Given the description of an element on the screen output the (x, y) to click on. 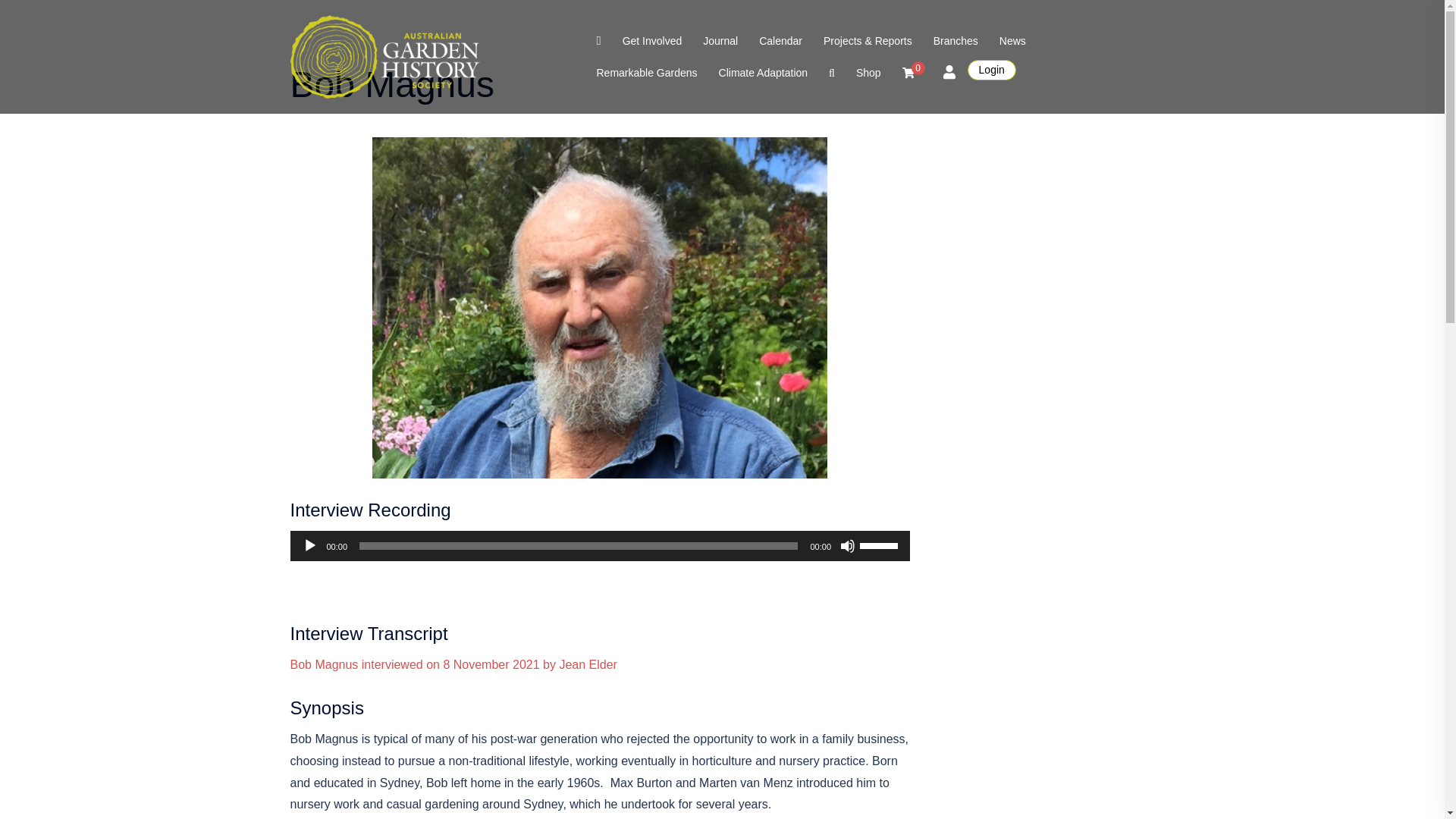
Mute (848, 545)
Play (309, 545)
Get Involved (652, 40)
Journal (720, 40)
Australian Garden History Society (384, 55)
Calendar (780, 40)
